Given the description of an element on the screen output the (x, y) to click on. 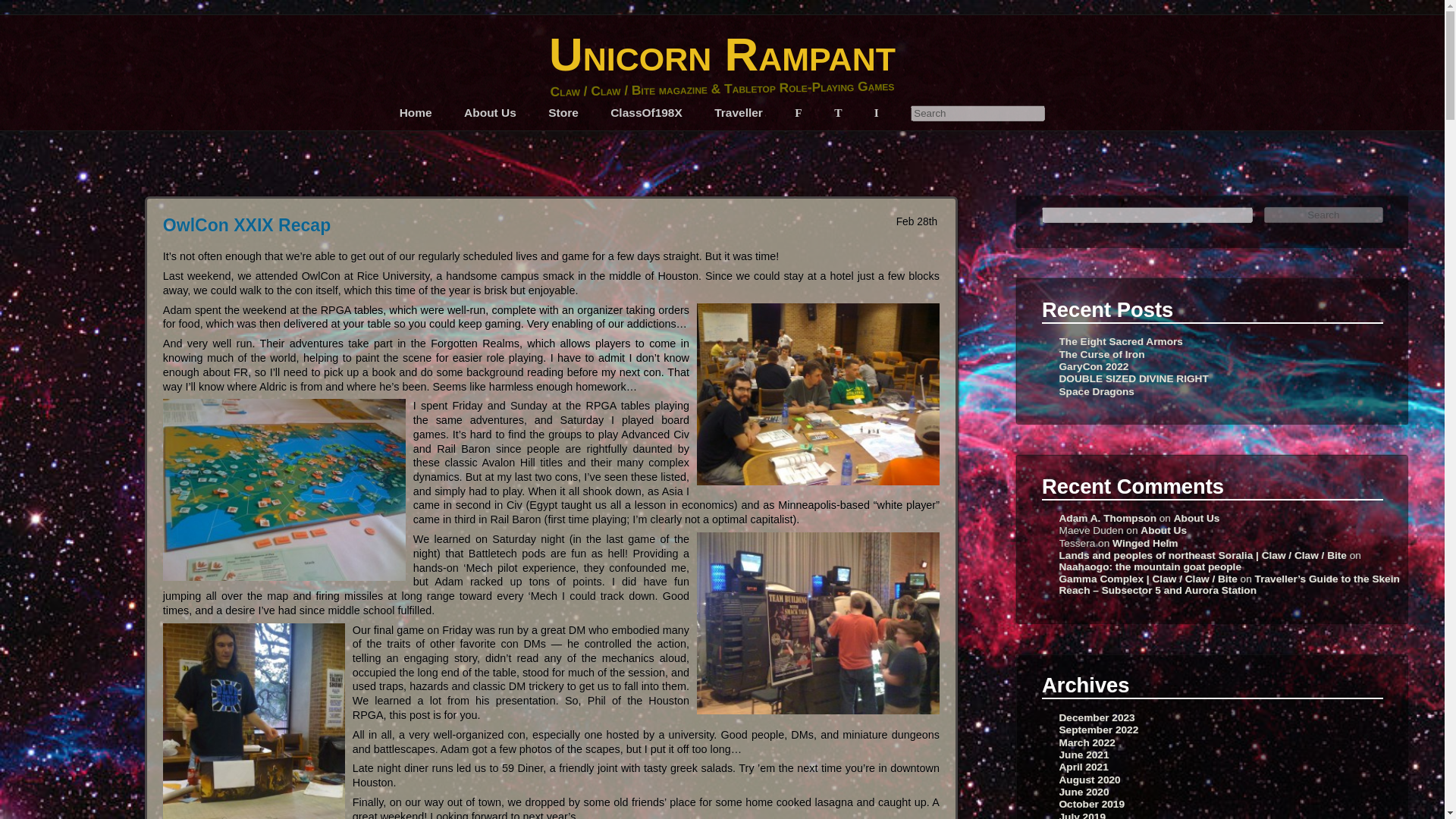
Home (415, 112)
Search (1323, 214)
OwlCon XXIX Recap (246, 225)
Unicorn Rampant (721, 53)
Traveller (738, 112)
Store (563, 112)
ClassOf198X (646, 112)
Search (978, 113)
OwlCon XXIX Recap (246, 225)
About Us (490, 112)
